Given the description of an element on the screen output the (x, y) to click on. 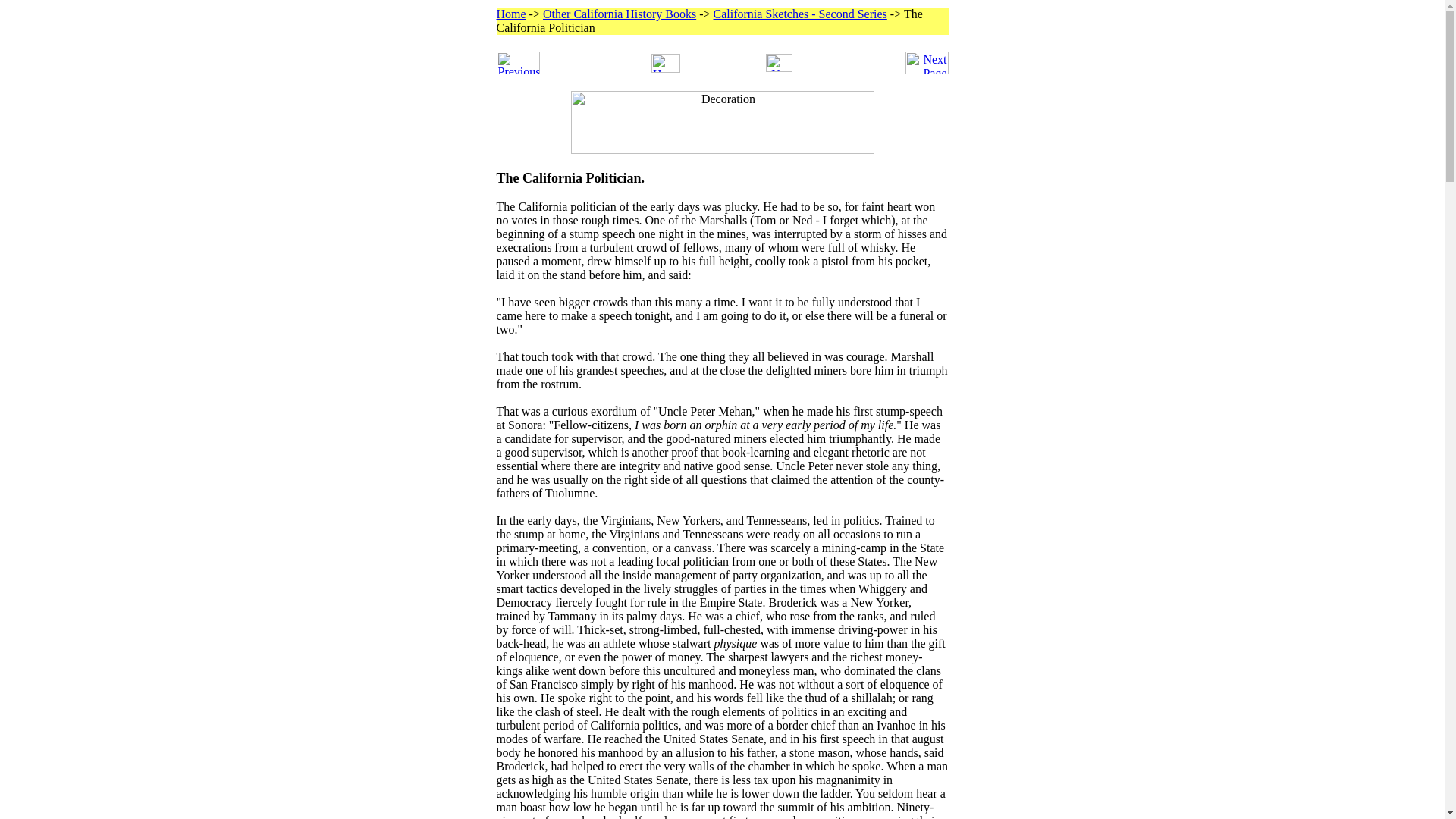
Other California History Books (619, 13)
Home (510, 13)
California Sketches - Second Series (799, 13)
